Given the description of an element on the screen output the (x, y) to click on. 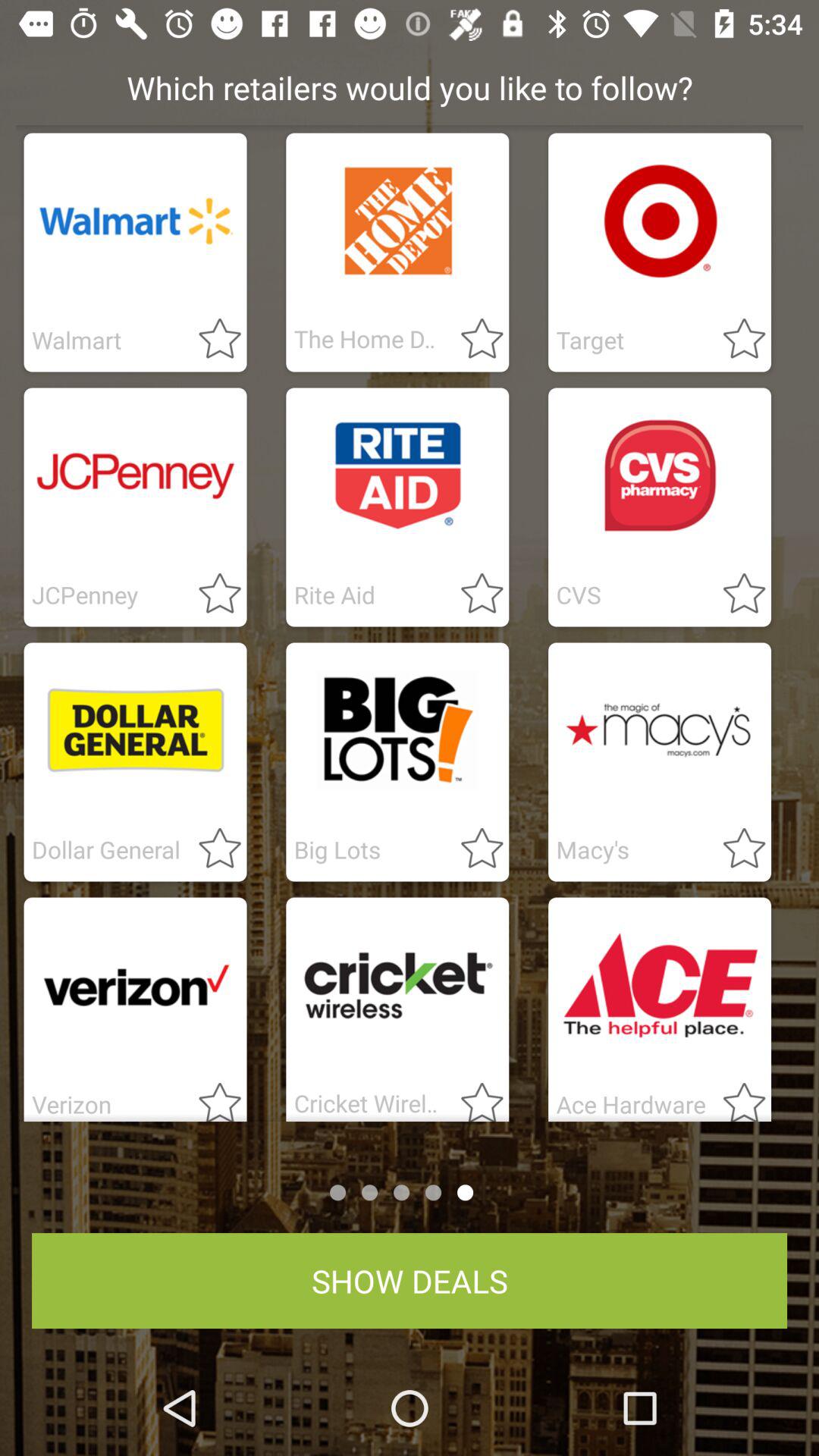
follow retailer (735, 594)
